Given the description of an element on the screen output the (x, y) to click on. 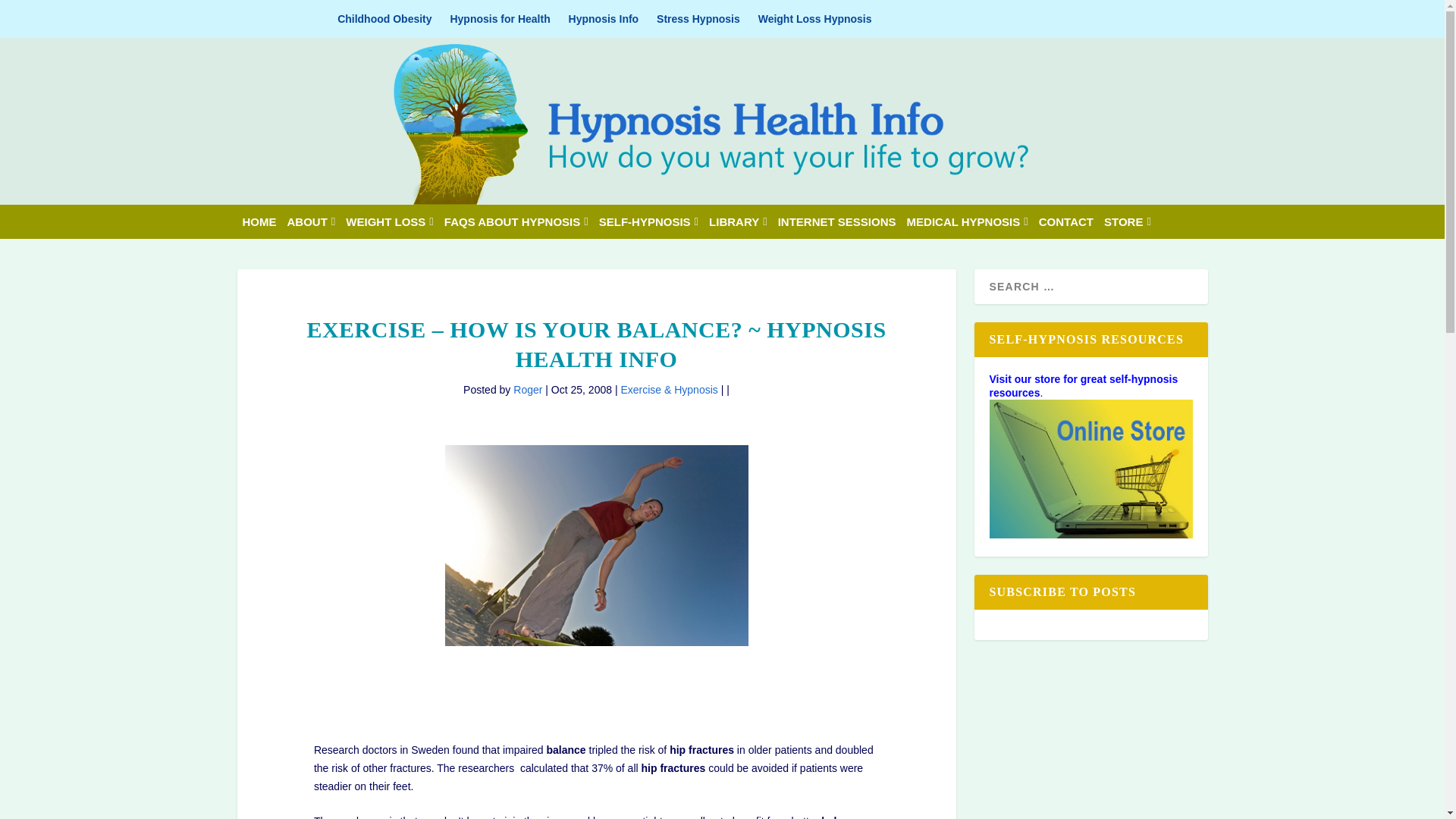
MEDICAL HYPNOSIS (967, 221)
ABOUT (310, 221)
Stress Hypnosis (697, 18)
Childhood Obesity (383, 18)
Hypnosis Info (604, 18)
Hypnosis for Health (499, 18)
FAQS ABOUT HYPNOSIS (516, 221)
INTERNET SESSIONS (836, 221)
WEIGHT LOSS (389, 221)
SELF-HYPNOSIS (648, 221)
